Given the description of an element on the screen output the (x, y) to click on. 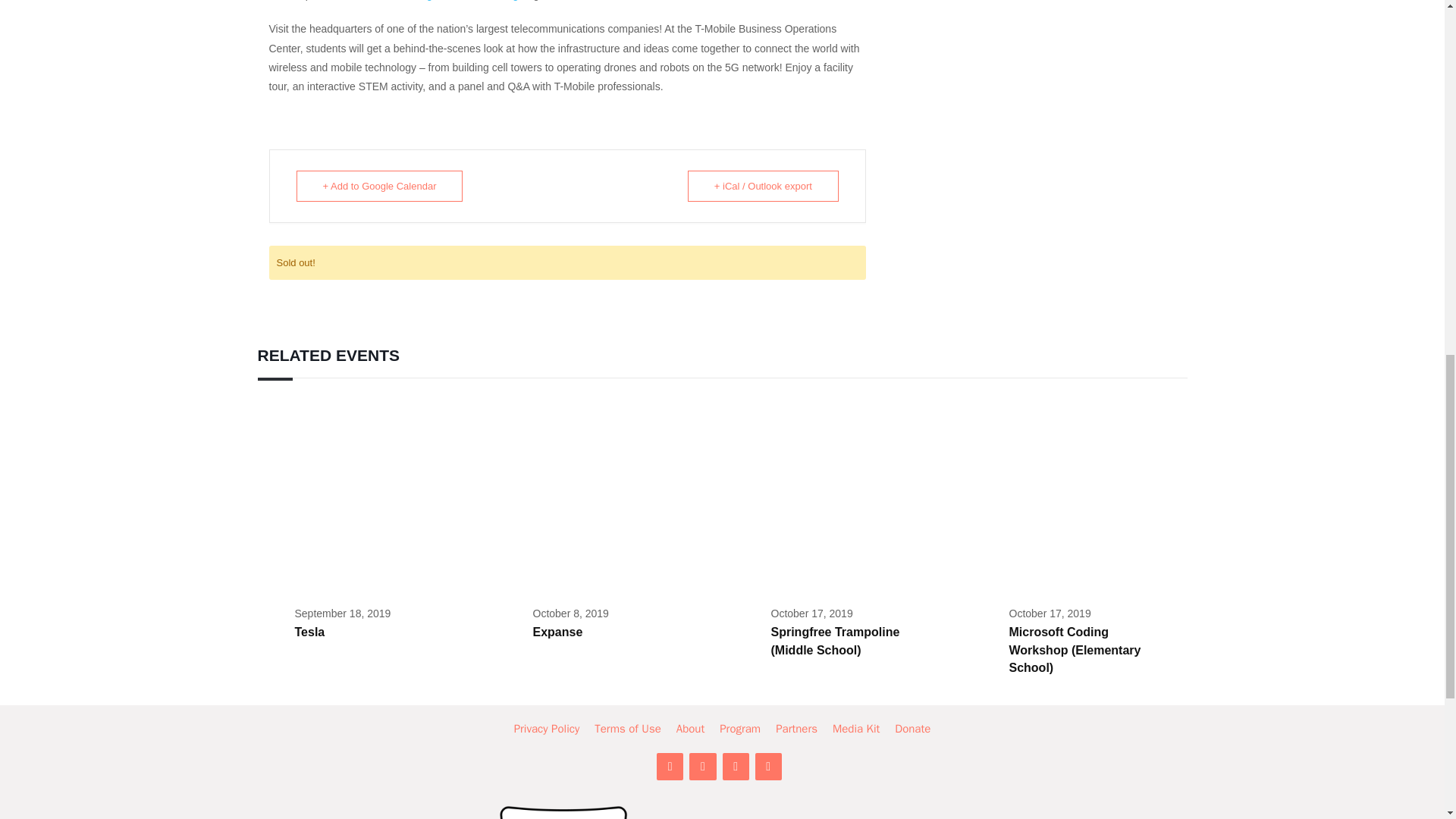
Scroll back to top (1406, 720)
LinkedIn (669, 766)
YouTube (768, 766)
Facebook (702, 766)
Instagram (735, 766)
